Given the description of an element on the screen output the (x, y) to click on. 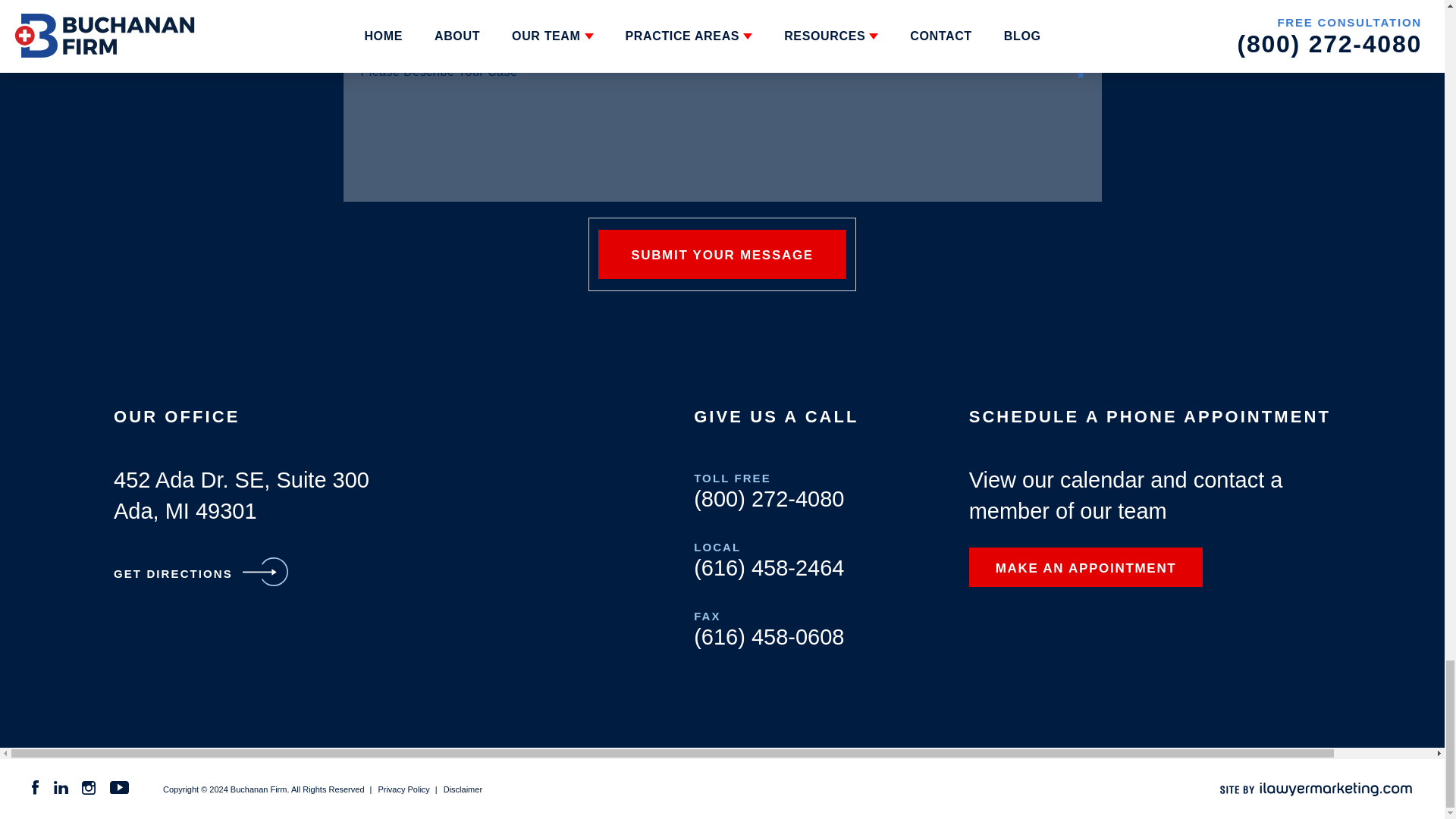
Submit Your Message (722, 254)
